Given the description of an element on the screen output the (x, y) to click on. 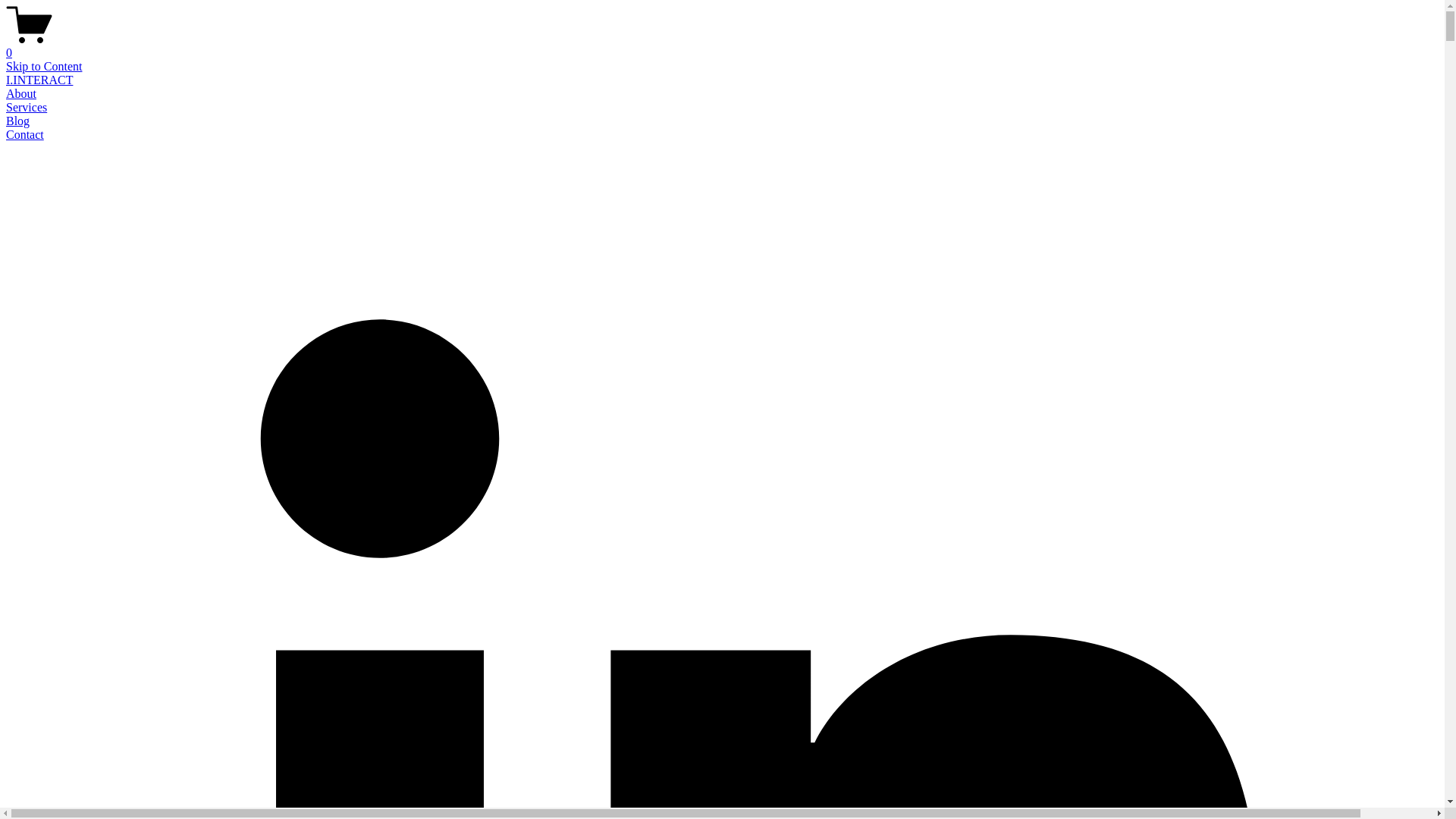
0 Element type: text (722, 45)
Blog Element type: text (17, 120)
About Element type: text (21, 93)
I.INTERACT Element type: text (39, 79)
Contact Element type: text (24, 134)
Services Element type: text (26, 106)
Skip to Content Element type: text (43, 65)
